Given the description of an element on the screen output the (x, y) to click on. 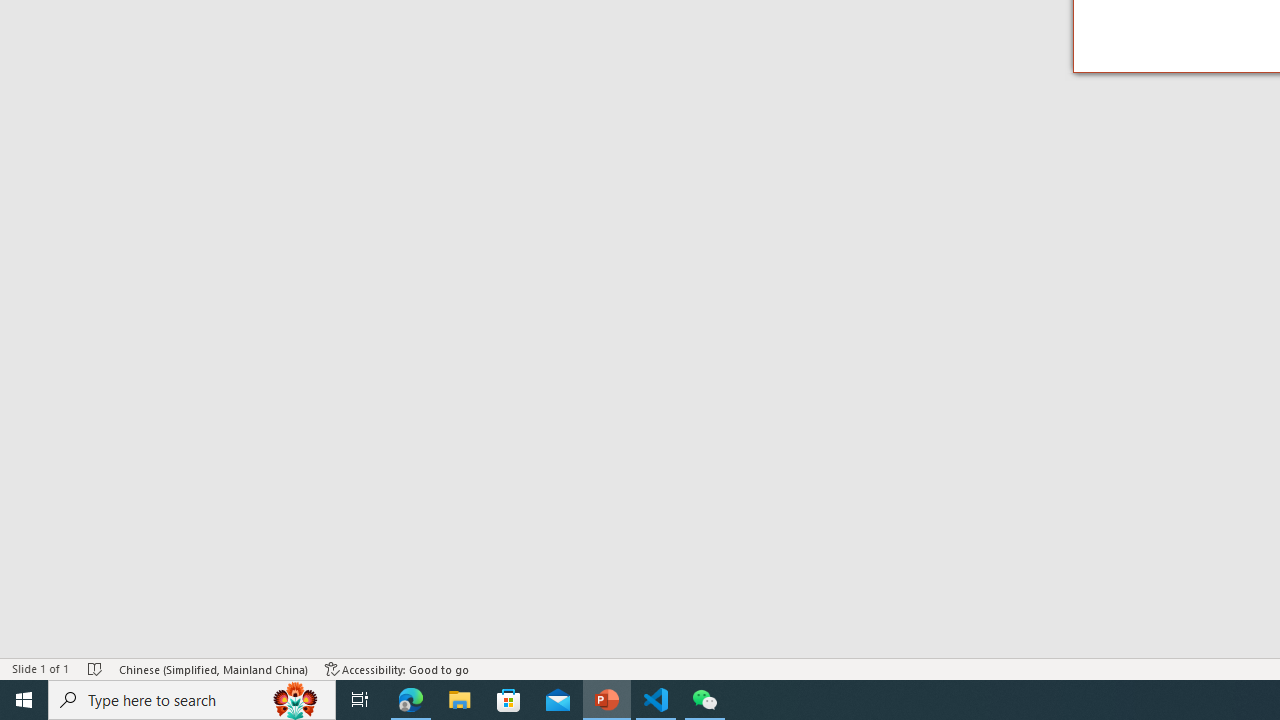
Microsoft Edge - 1 running window (411, 699)
WeChat - 1 running window (704, 699)
Accessibility Checker Accessibility: Good to go (397, 668)
